Given the description of an element on the screen output the (x, y) to click on. 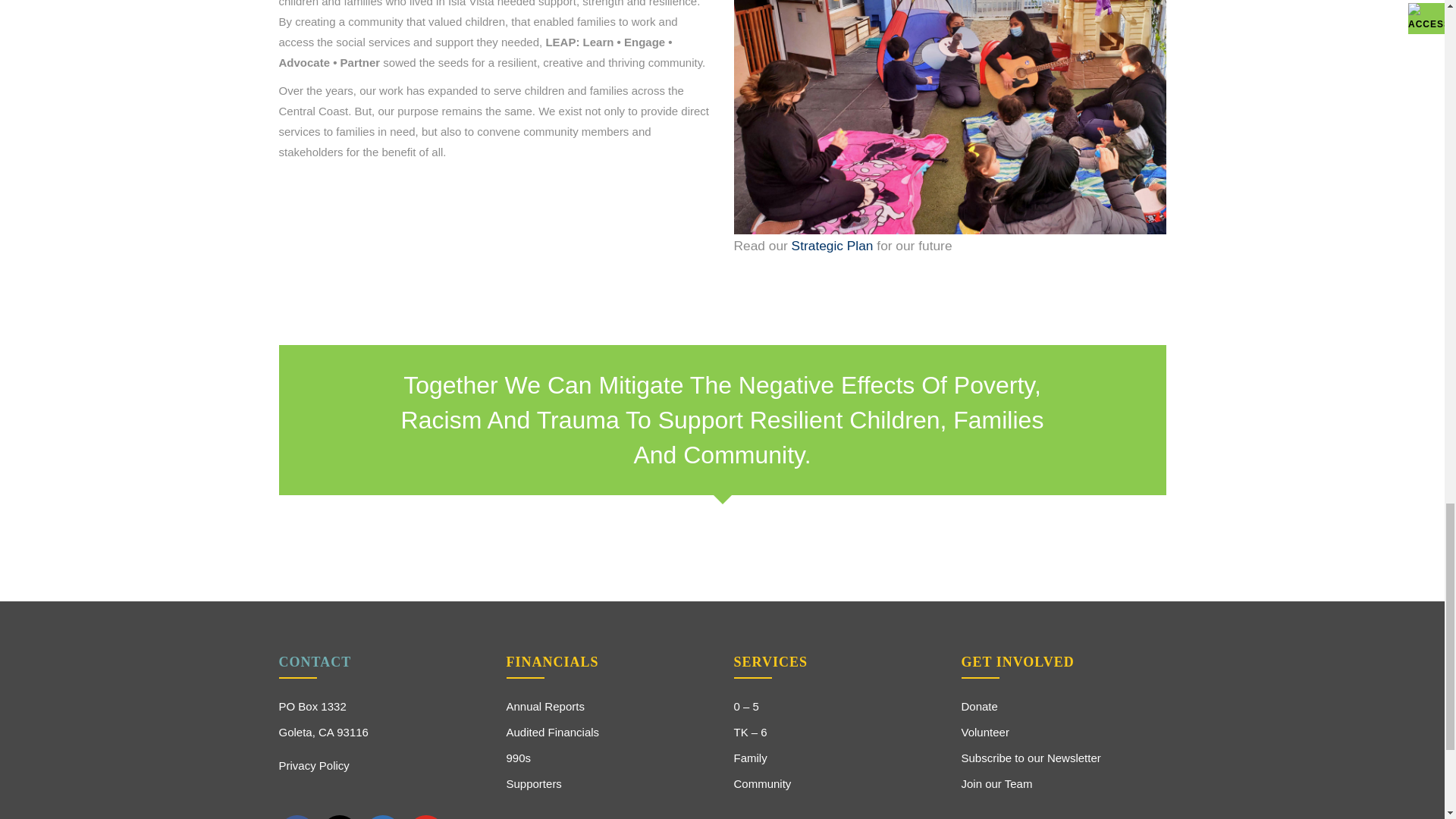
Linkedin (383, 816)
YouTube (425, 816)
Instagram (339, 816)
Facebook (297, 816)
